Given the description of an element on the screen output the (x, y) to click on. 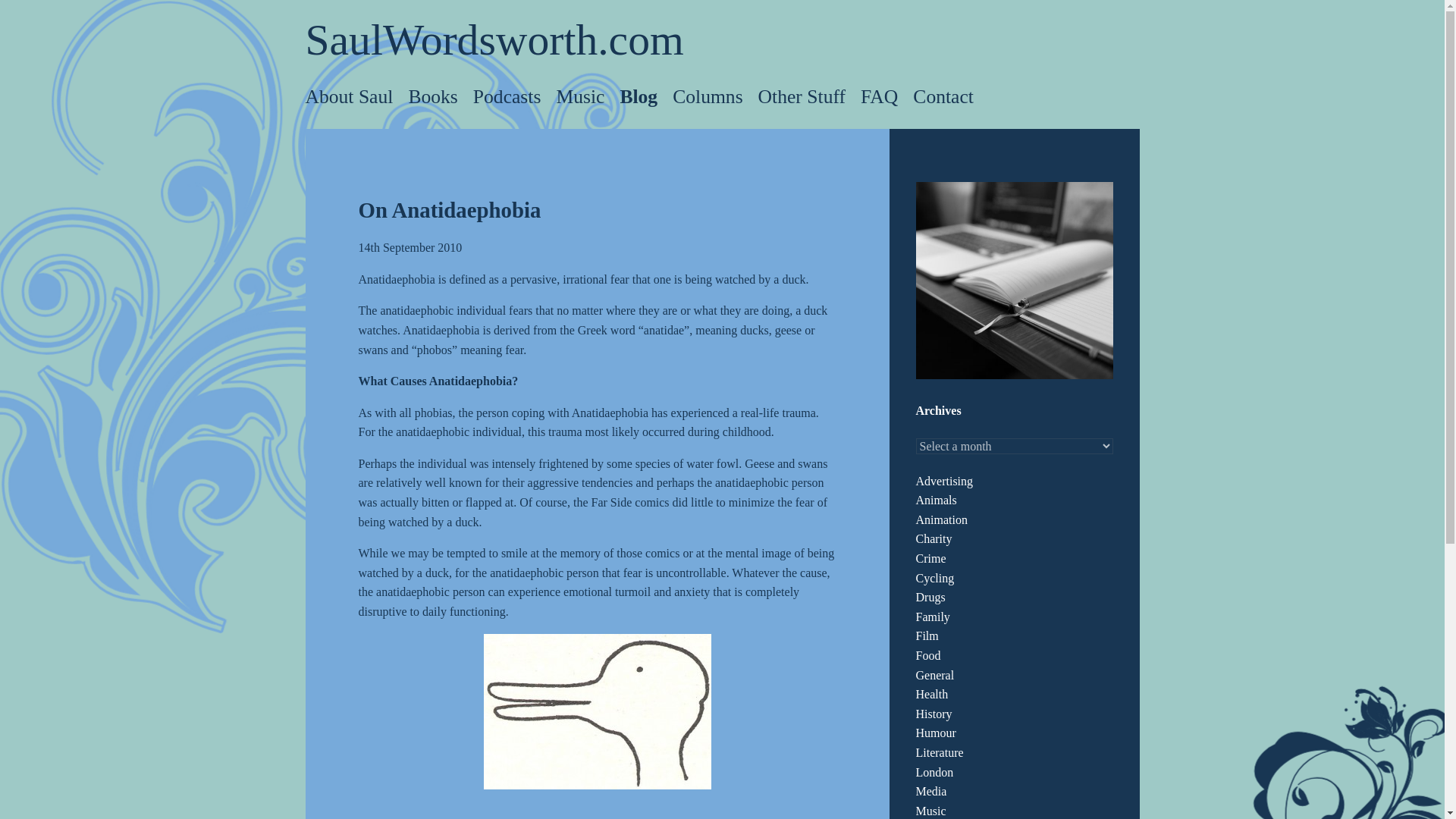
Cycling (935, 577)
Literature (939, 752)
Food (927, 655)
Animation (941, 519)
Drugs (929, 596)
SaulWordsworth.com (493, 39)
Podcasts (507, 97)
Crime (930, 558)
Books (432, 97)
Health (932, 694)
